Given the description of an element on the screen output the (x, y) to click on. 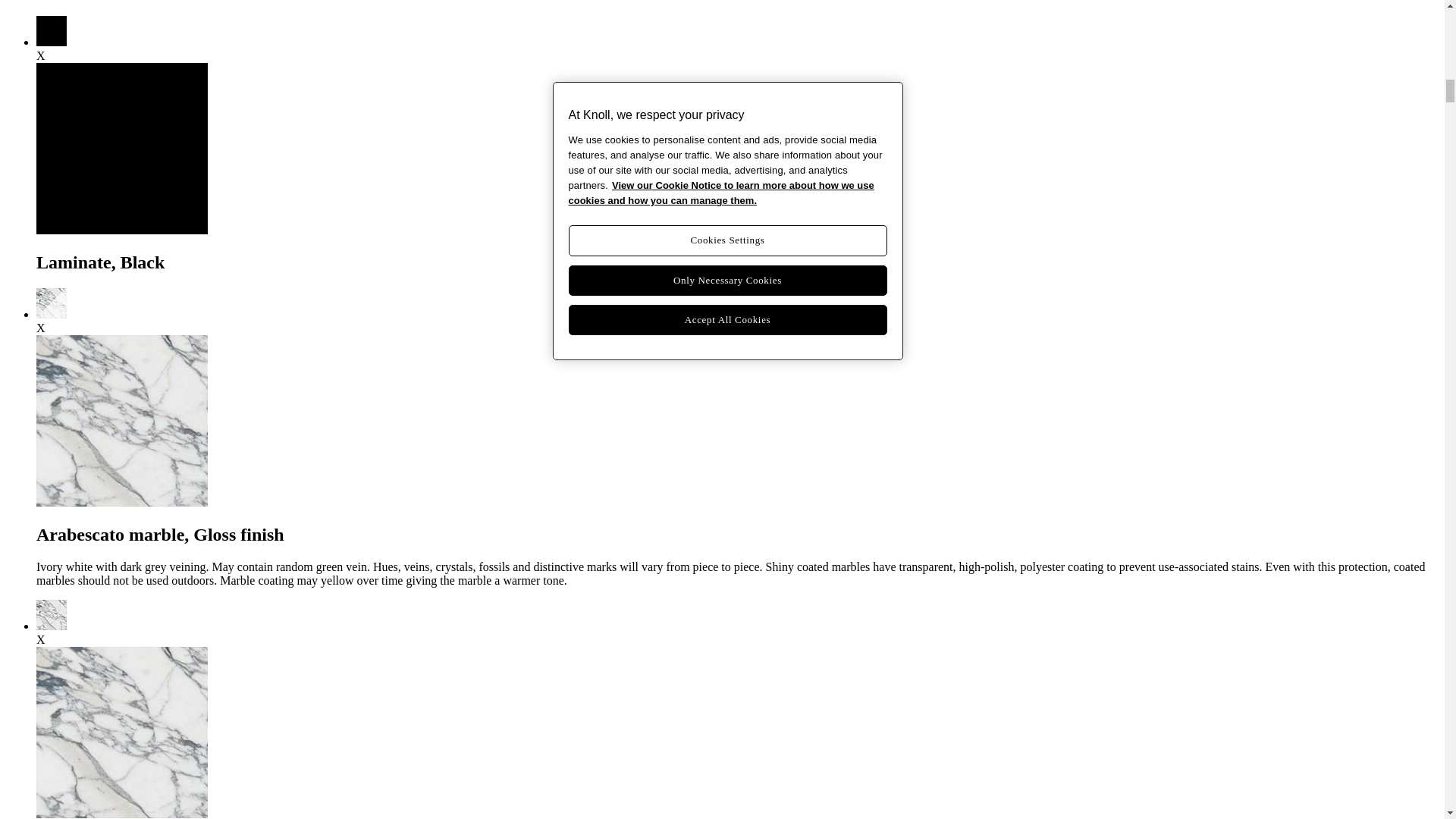
Laminate, Black (51, 42)
Arabescato marble, Satin finish (51, 625)
Arabescato marble, Gloss finish (51, 314)
